Given the description of an element on the screen output the (x, y) to click on. 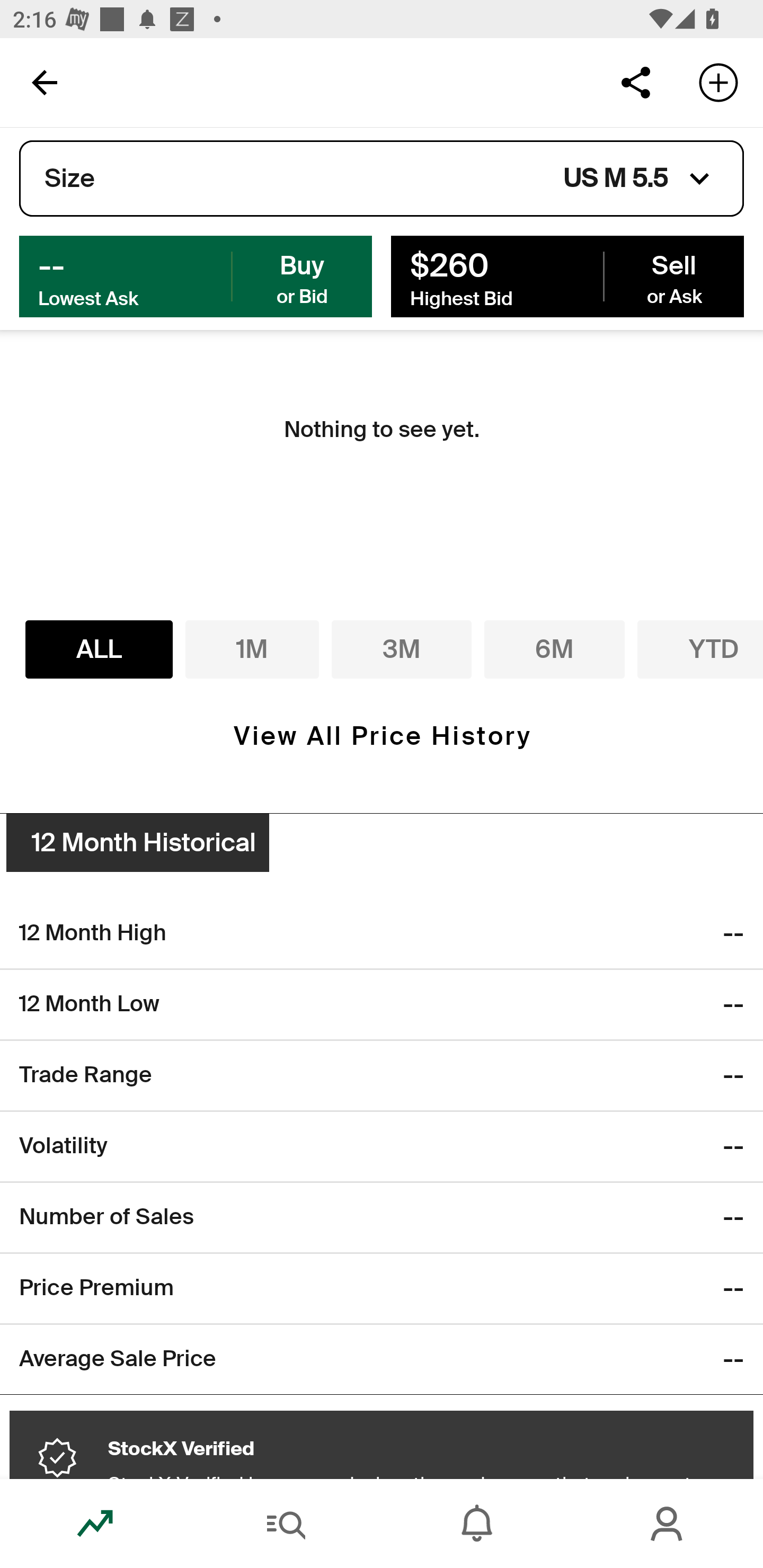
Share (635, 81)
Add (718, 81)
Size US M 5.5 (381, 178)
-- Buy Lowest Ask or Bid (195, 275)
$260 Sell Highest Bid or Ask (566, 275)
ALL (98, 649)
1M (251, 649)
3M (401, 649)
6M (554, 649)
YTD (687, 649)
Search (285, 1523)
Inbox (476, 1523)
Account (667, 1523)
